Given the description of an element on the screen output the (x, y) to click on. 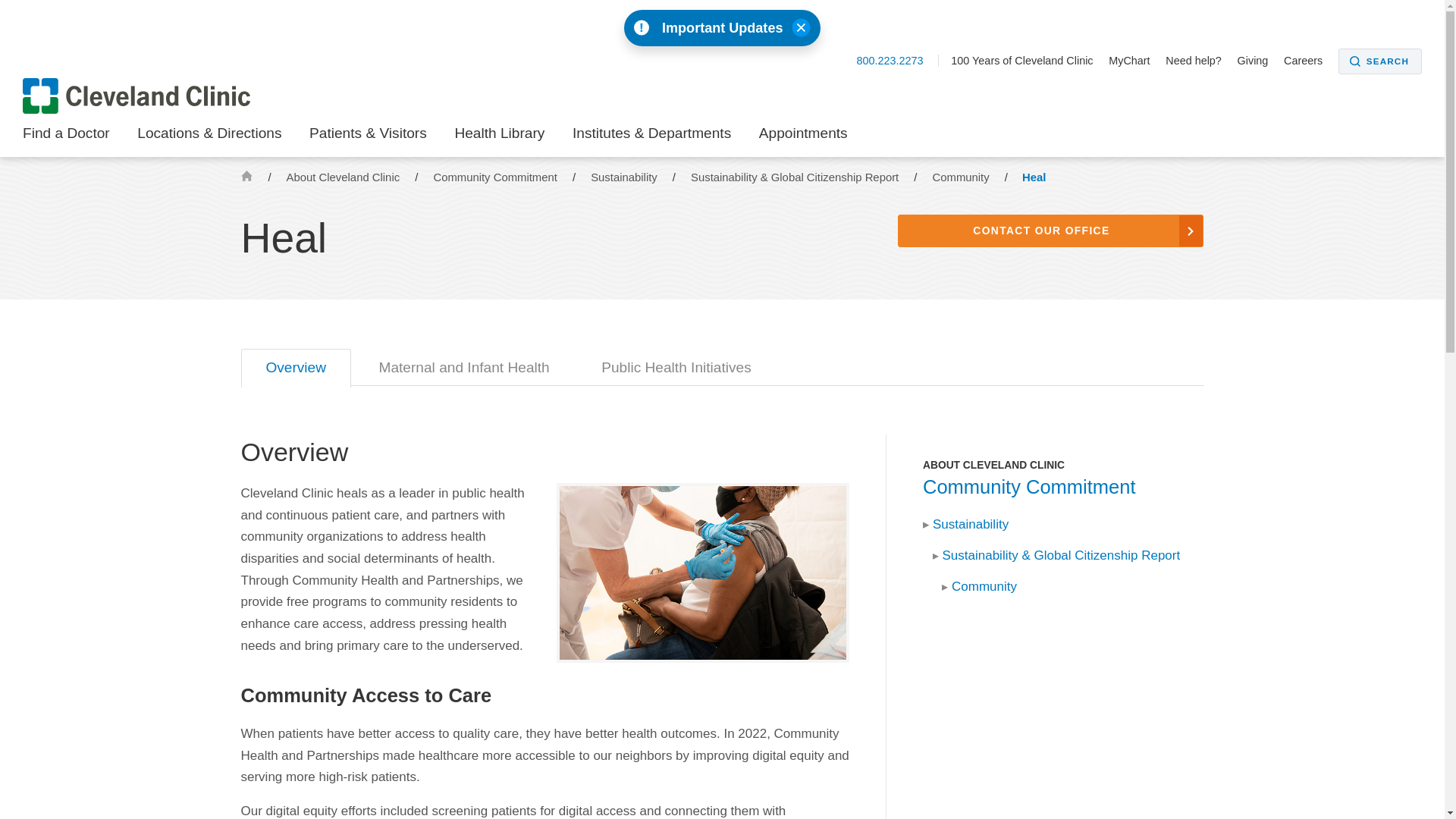
Find a Doctor (66, 137)
Important Updates (722, 27)
SEARCH (1380, 61)
100 Years of Cleveland Clinic (1027, 60)
Appointments (802, 137)
MyChart (1134, 60)
Need help? (1199, 60)
Health Library (499, 137)
Giving (1259, 60)
Need help? (1199, 60)
Community Commitment (496, 177)
Careers (1309, 60)
800.223.2273 (897, 60)
Home (246, 174)
MyChart (1134, 60)
